Given the description of an element on the screen output the (x, y) to click on. 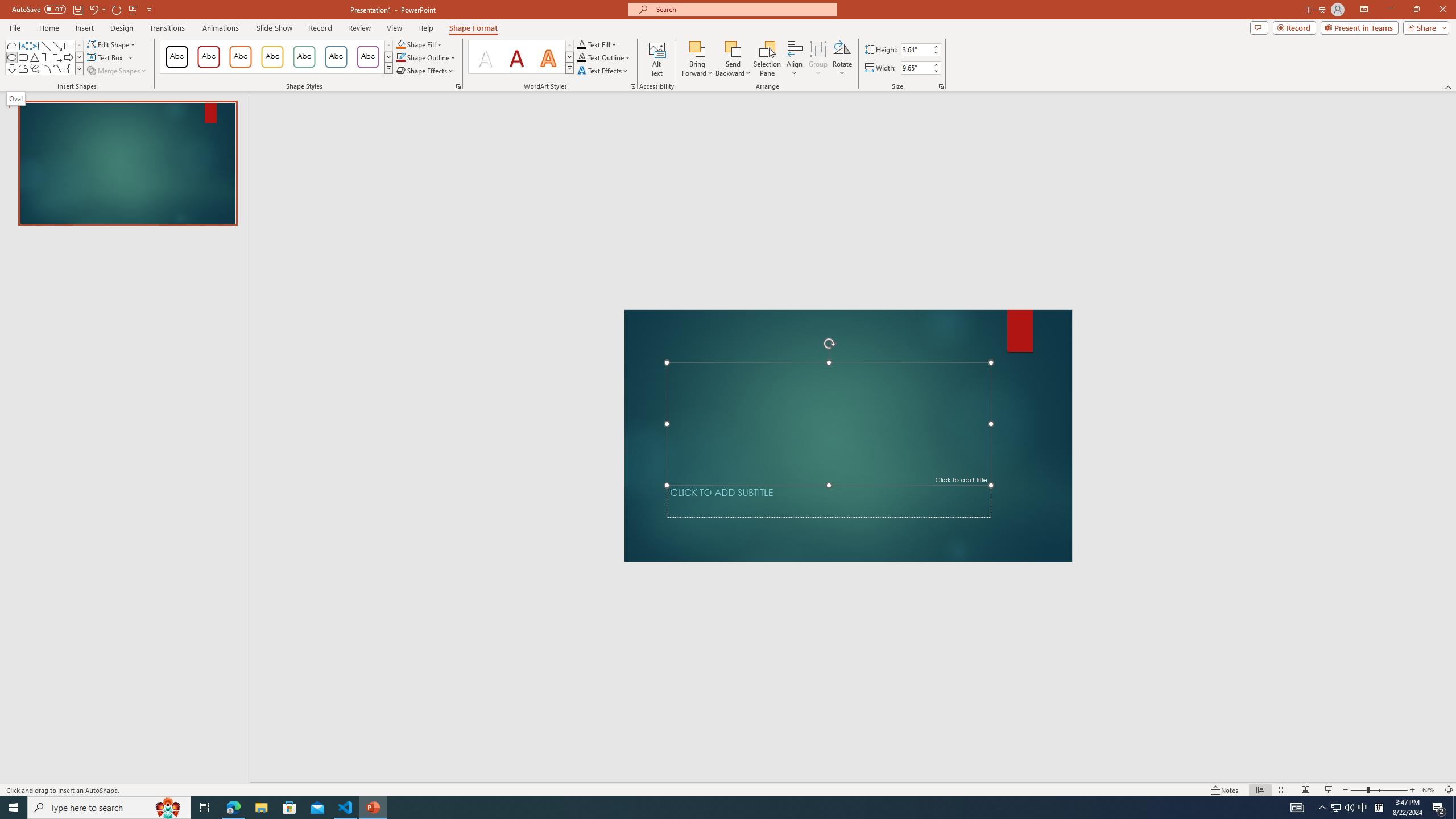
Shape Outline (426, 56)
Colored Outline - Green, Accent 4 (304, 56)
Shapes (78, 68)
Colored Outline - Gold, Accent 3 (272, 56)
Colored Outline - Purple, Accent 6 (368, 56)
Left Brace (68, 68)
Colored Outline - Black, Dark 1 (176, 56)
